Given the description of an element on the screen output the (x, y) to click on. 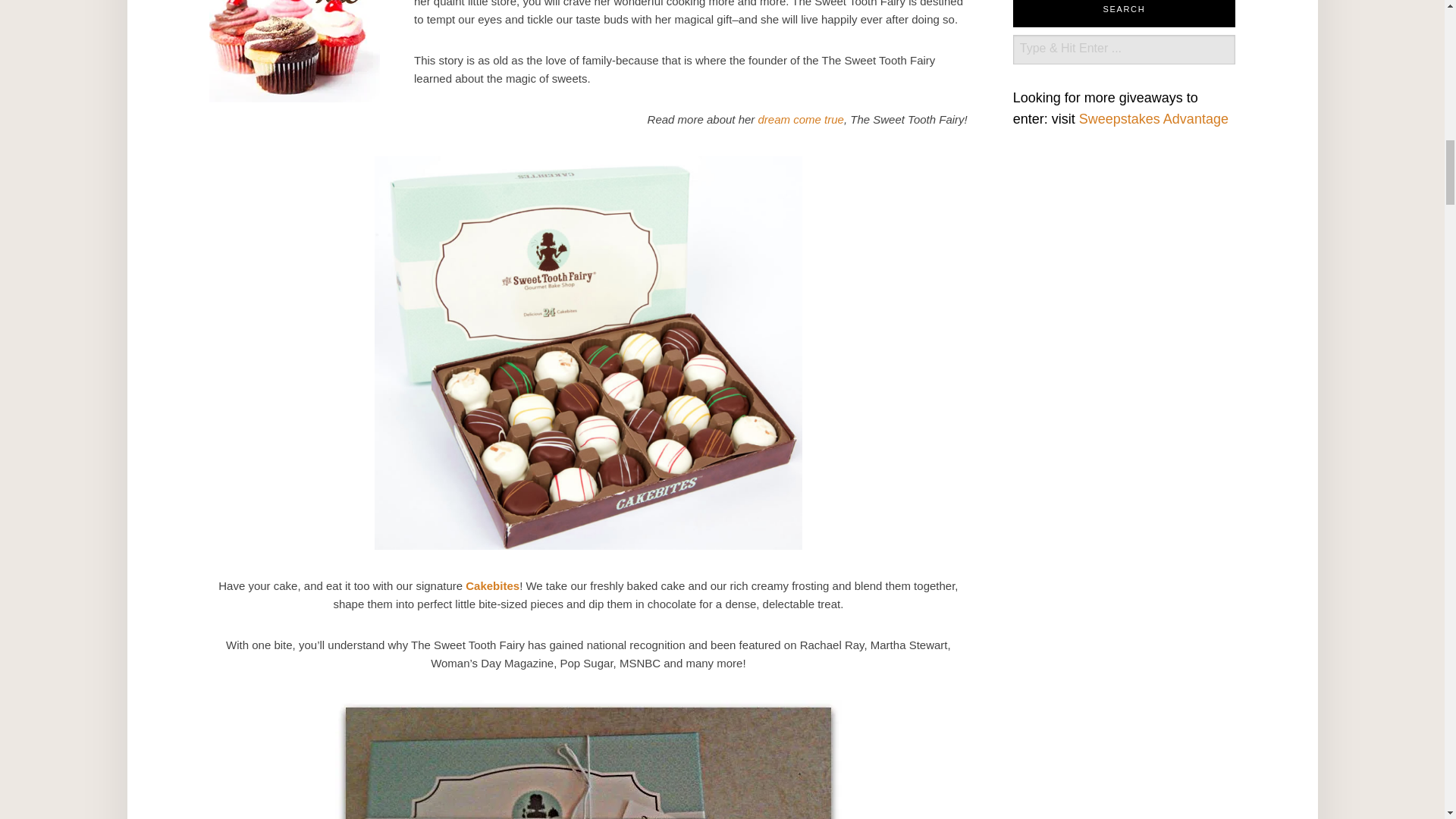
image5 (294, 51)
